Given the description of an element on the screen output the (x, y) to click on. 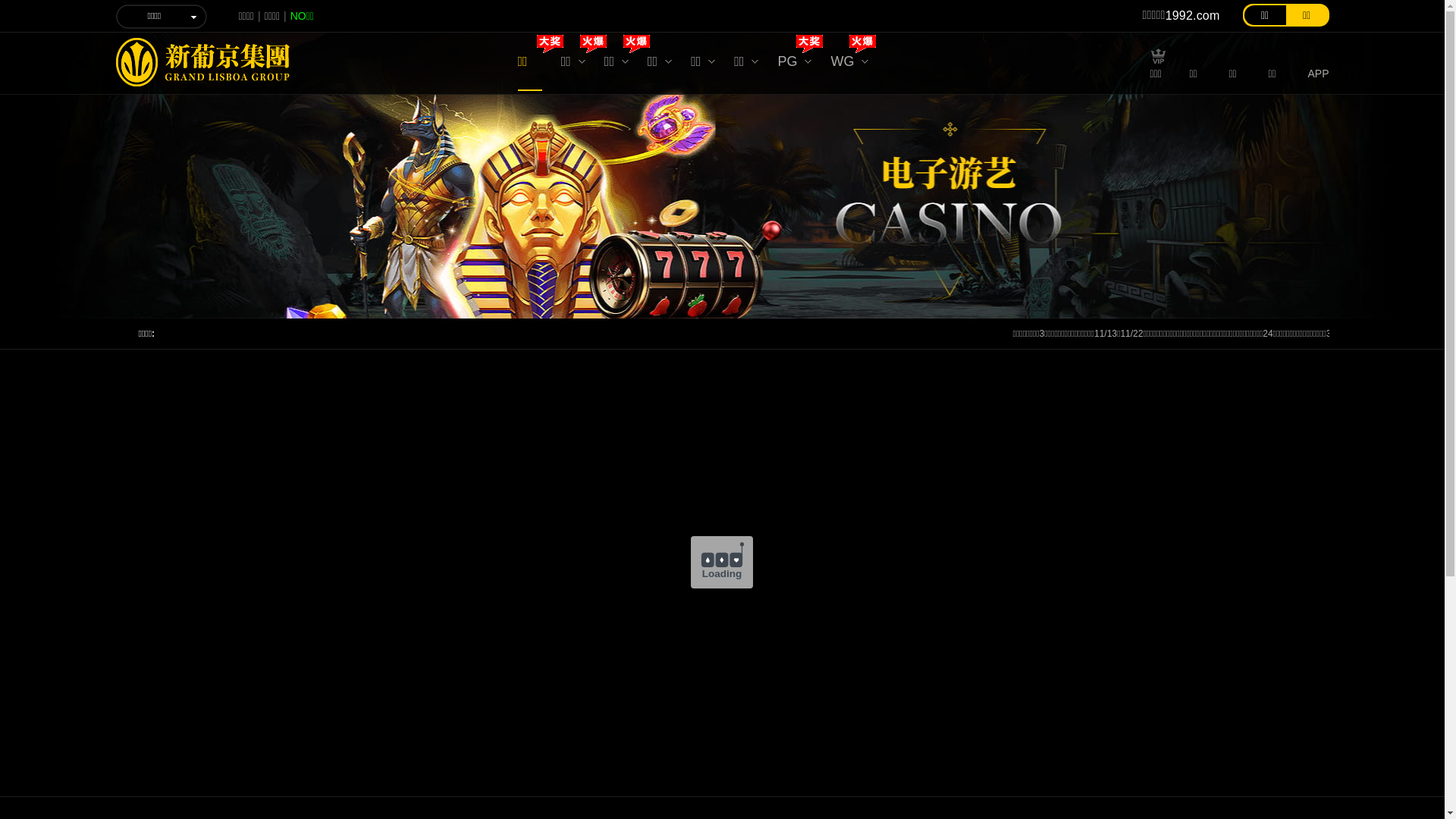
WG Element type: text (849, 65)
APP Element type: text (1317, 71)
PG Element type: text (794, 65)
